Given the description of an element on the screen output the (x, y) to click on. 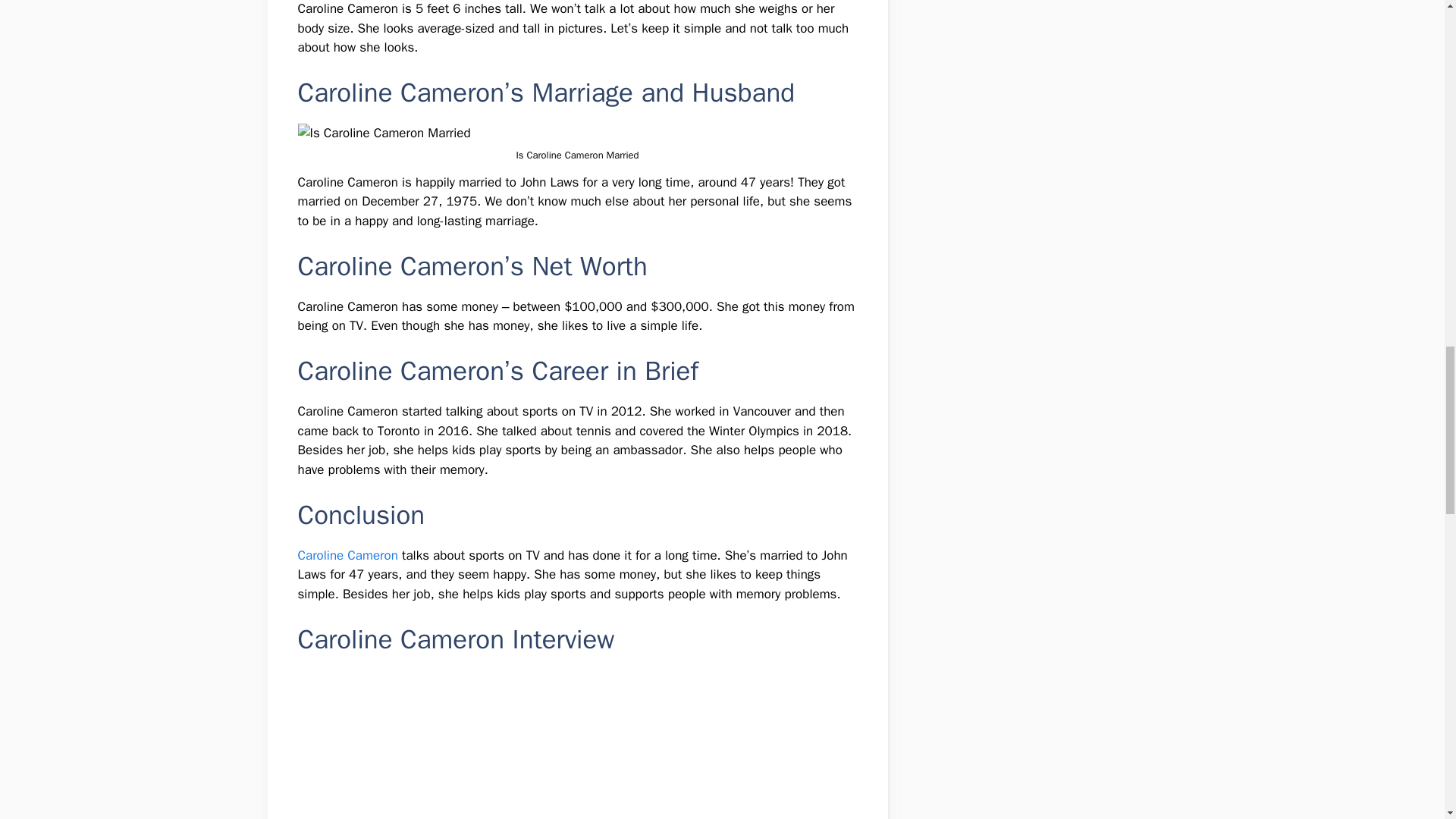
Caroline Cameron on her tennis career and Rogers Cup (577, 744)
Caroline Cameron (347, 555)
